Given the description of an element on the screen output the (x, y) to click on. 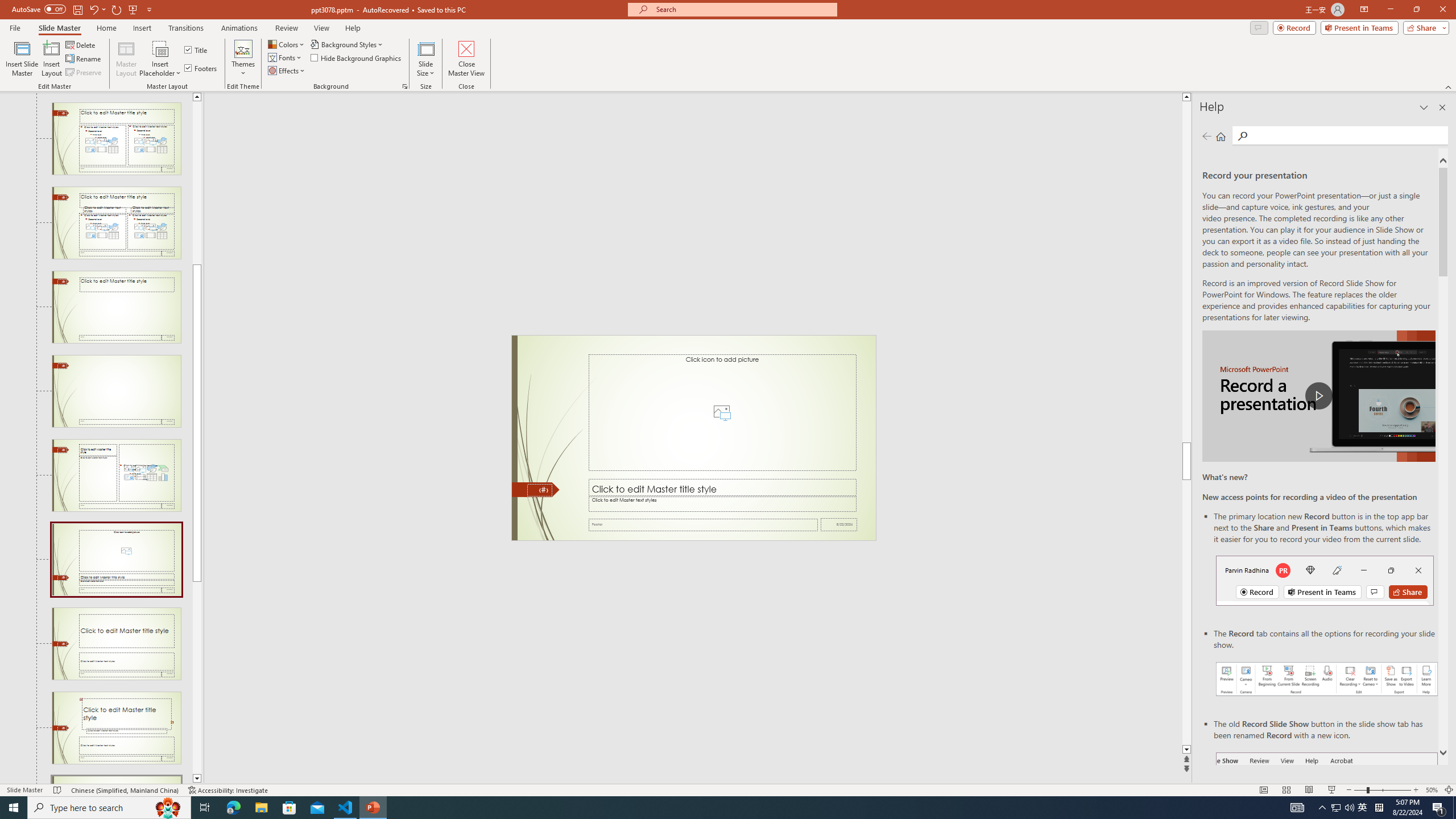
Delete (81, 44)
Zoom 50% (1431, 790)
Slide Size (425, 58)
Hide Background Graphics (356, 56)
Colors (287, 44)
Pictures (720, 411)
Slide Two Content Layout: used by no slides (116, 138)
Microsoft search (742, 9)
Fonts (285, 56)
